Given the description of an element on the screen output the (x, y) to click on. 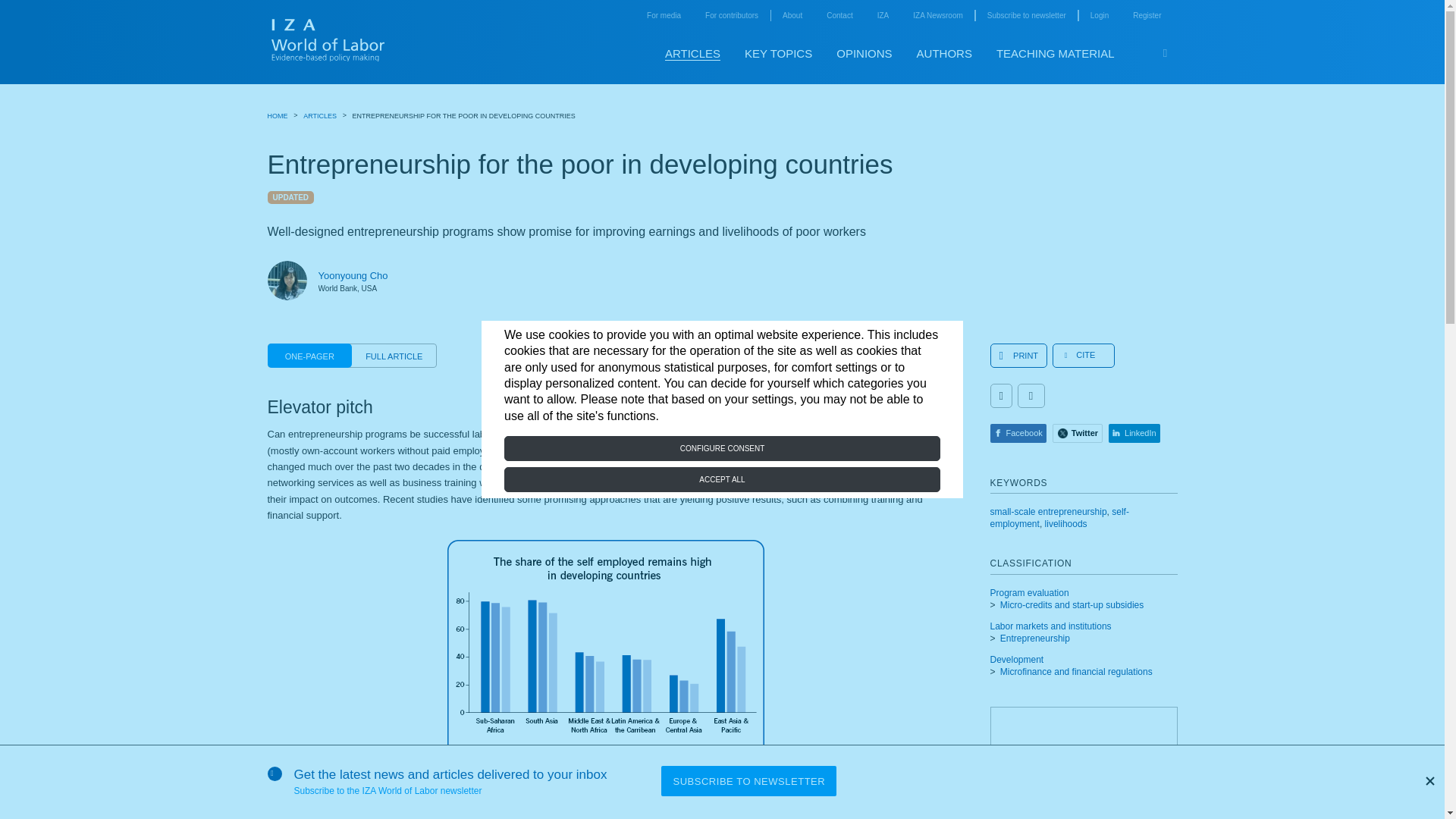
Skip to main content (1189, 37)
For media (663, 15)
about (792, 15)
Login (1099, 15)
CONFIGURE CONSENT (721, 448)
register (1146, 15)
for contributors (731, 15)
ACCEPT ALL (721, 479)
ARTICLES (692, 53)
subscribe to newsletter (1026, 15)
